Given the description of an element on the screen output the (x, y) to click on. 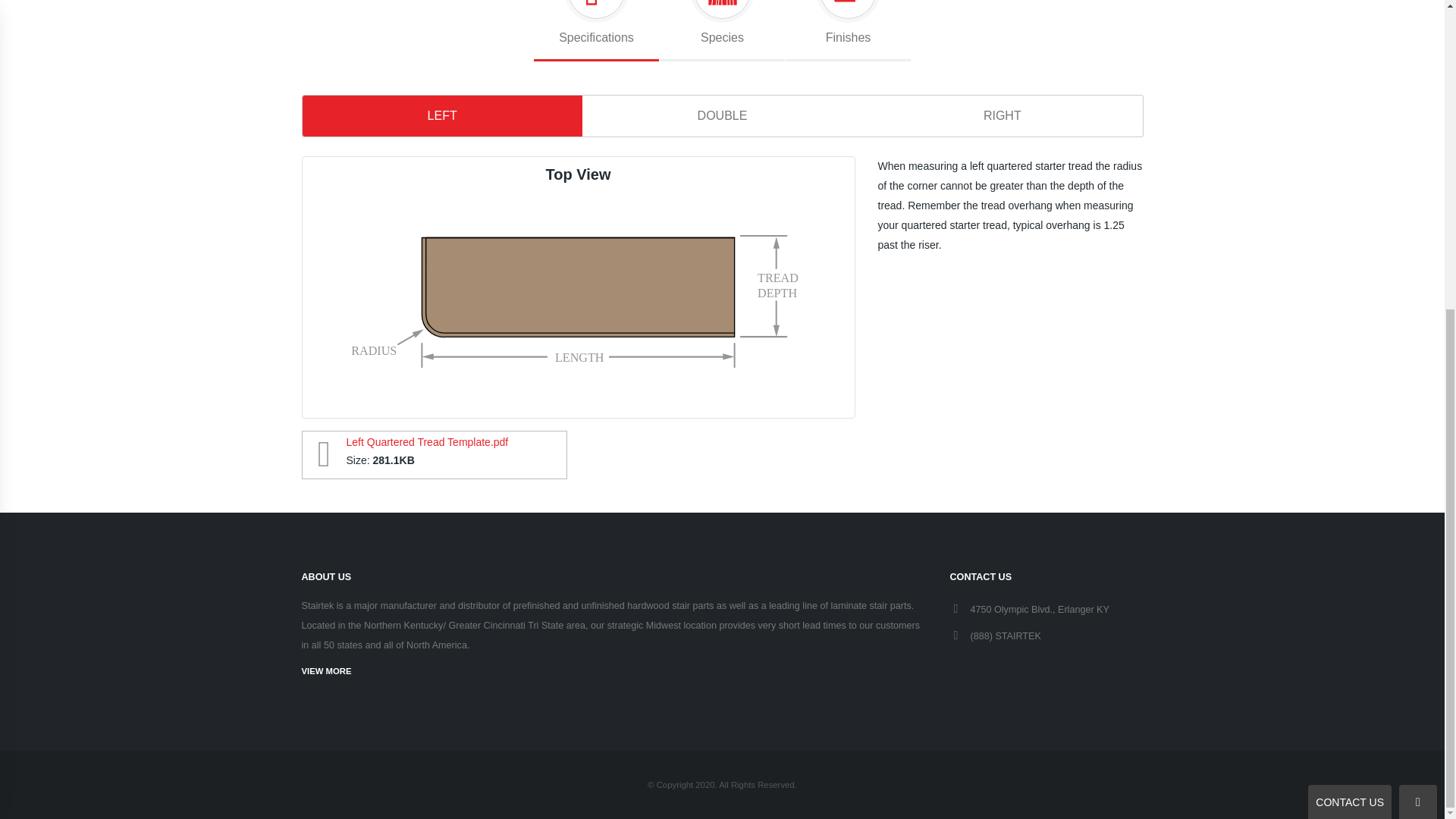
DOUBLE (721, 115)
RIGHT (434, 454)
Species (1001, 115)
Finishes (721, 30)
Specifications (848, 30)
LEFT (596, 30)
